Given the description of an element on the screen output the (x, y) to click on. 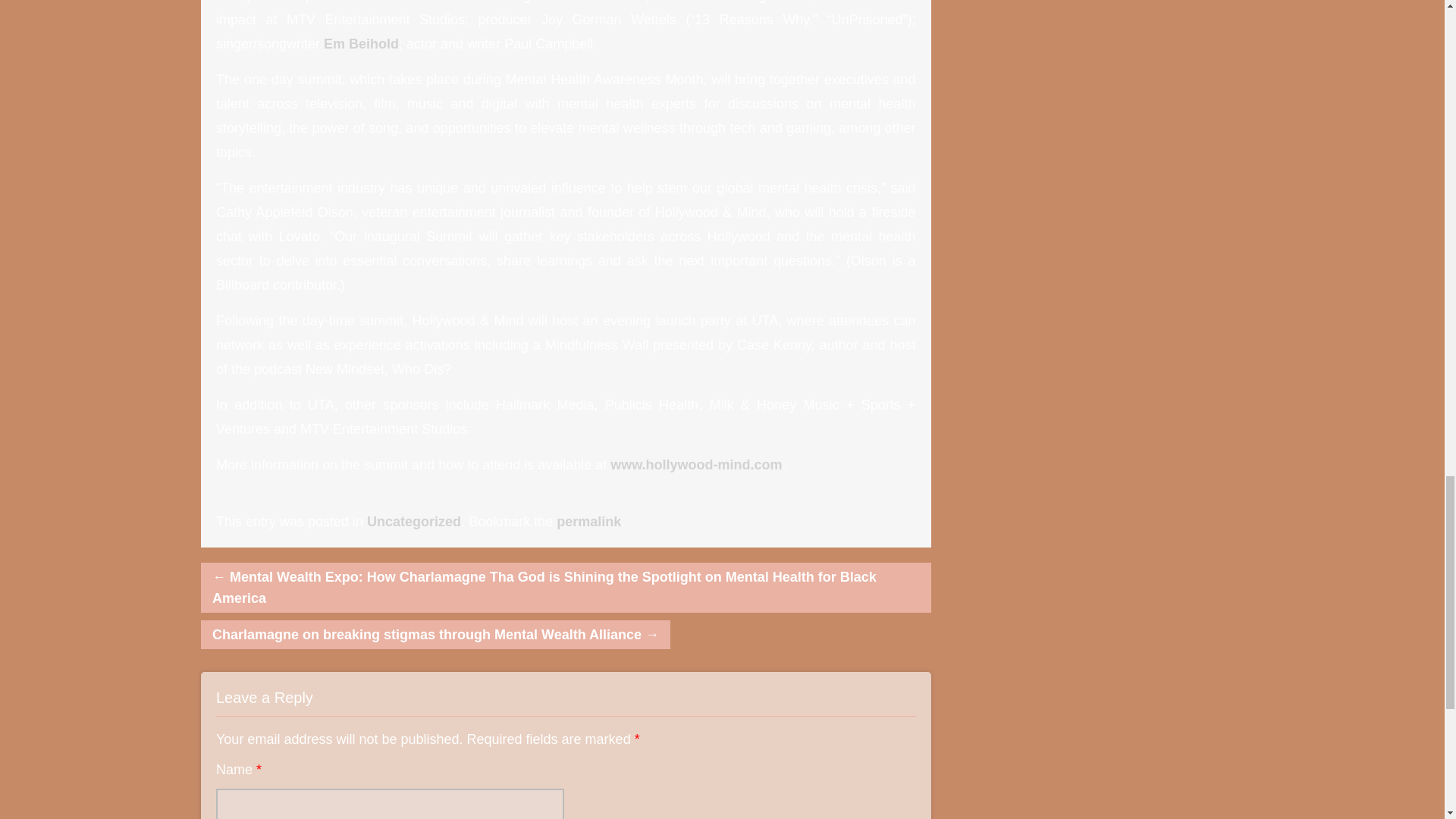
Uncategorized (413, 521)
permalink (588, 521)
Em Beihold (360, 43)
www.hollywood-mind.com (695, 464)
